Given the description of an element on the screen output the (x, y) to click on. 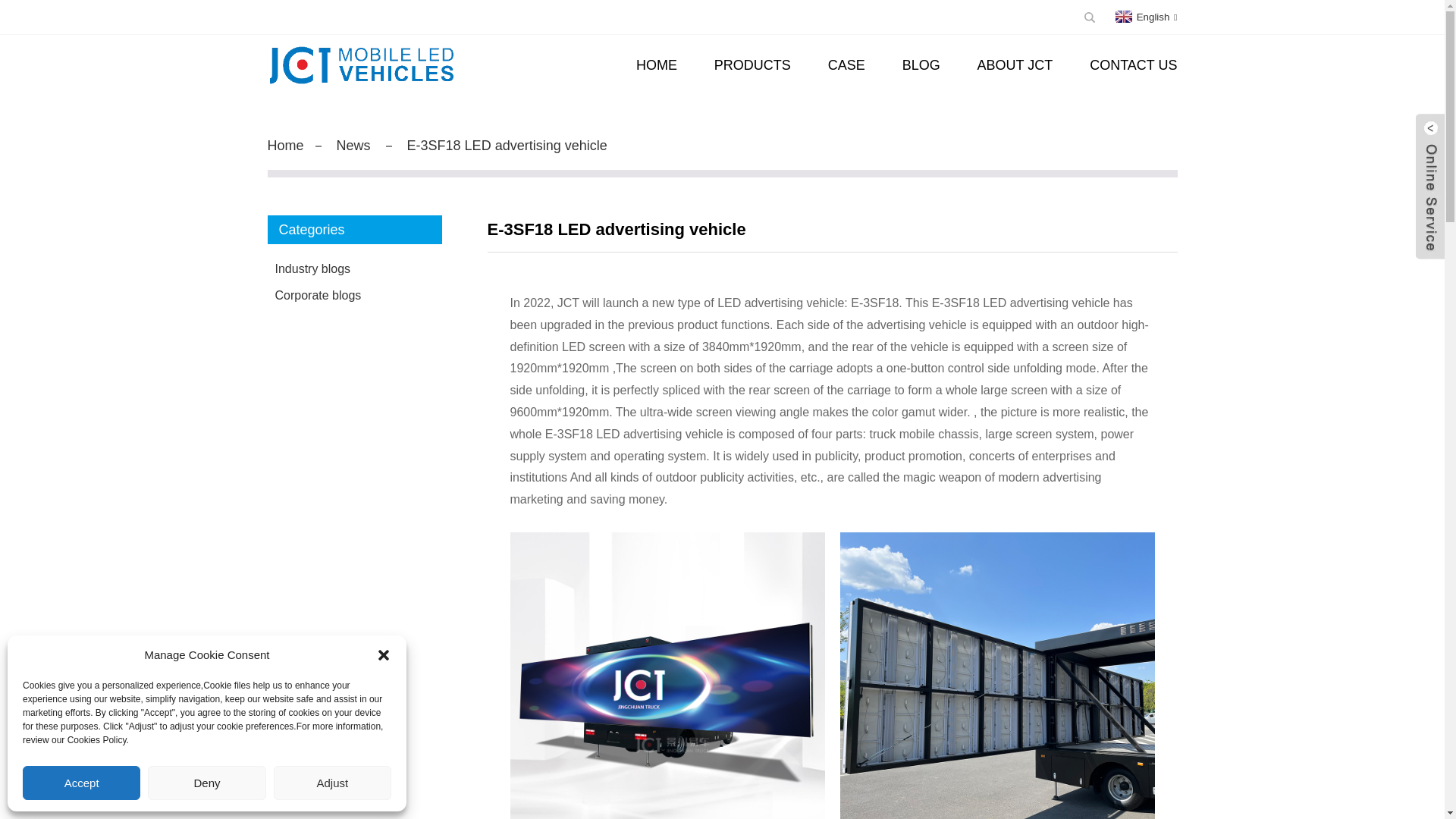
English (1144, 16)
